Given the description of an element on the screen output the (x, y) to click on. 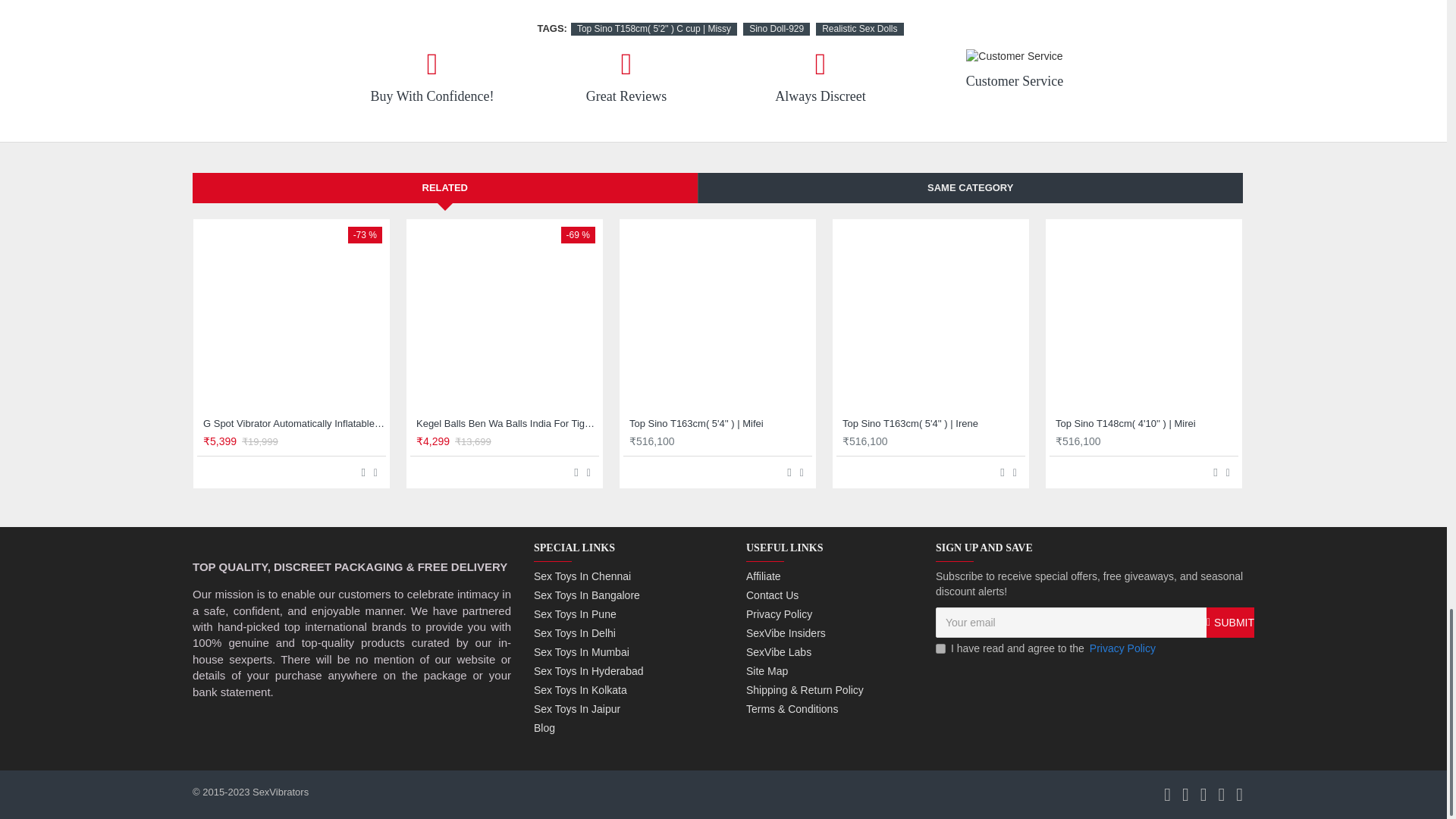
1 (940, 648)
